Given the description of an element on the screen output the (x, y) to click on. 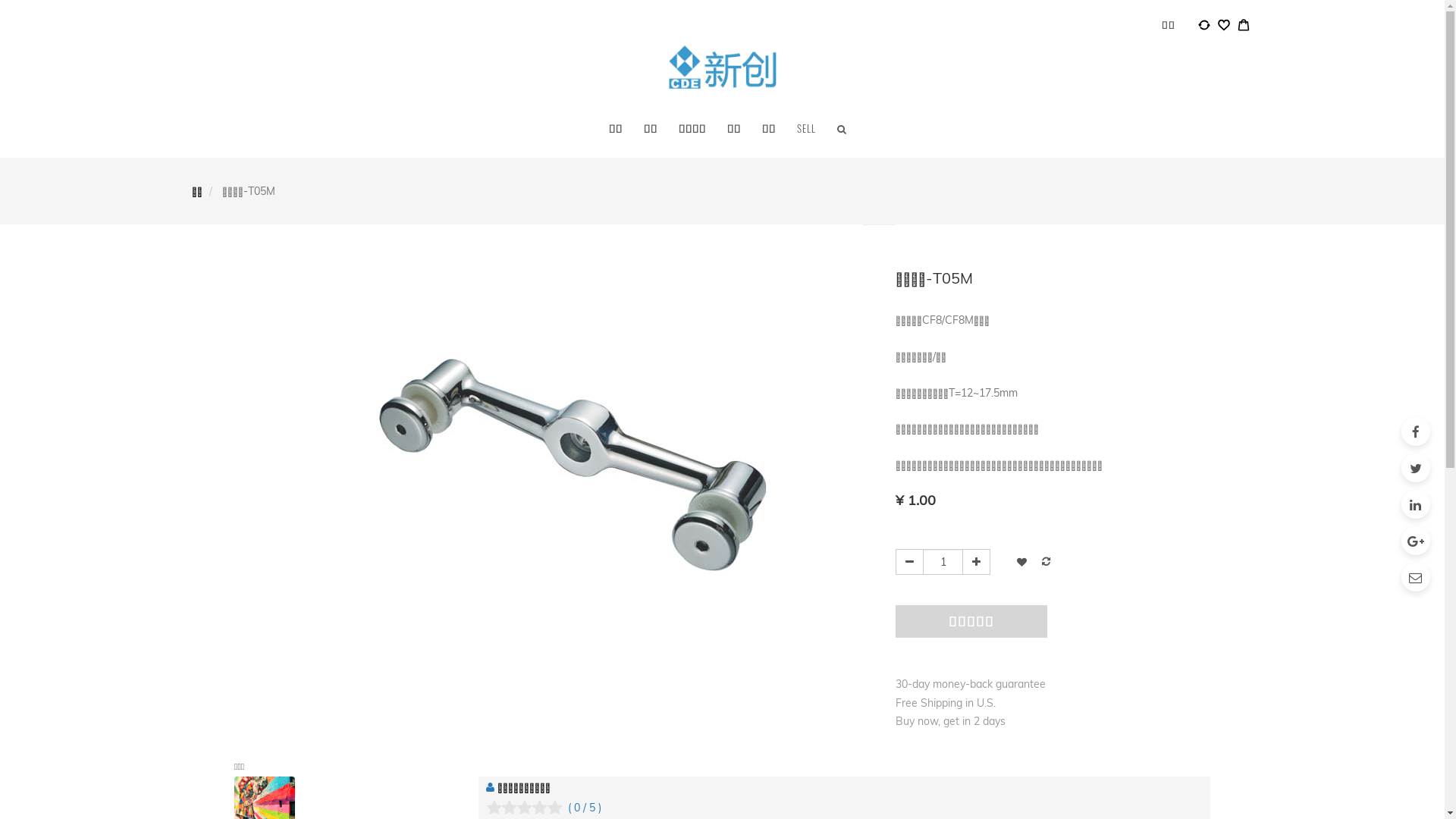
SELL Element type: text (806, 127)
Add To Wishlist Element type: hover (1021, 561)
